Given the description of an element on the screen output the (x, y) to click on. 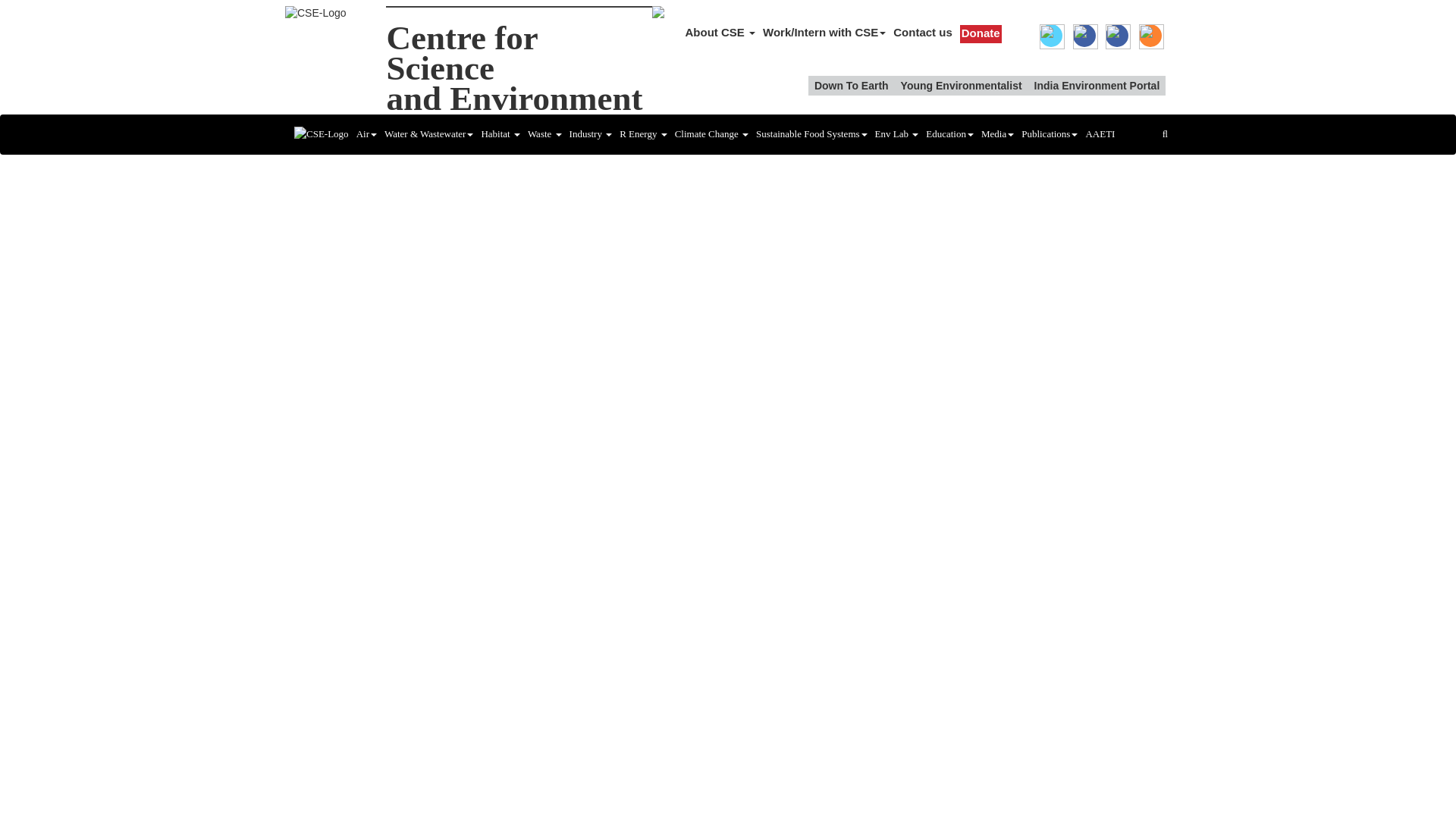
Down To Earth (851, 85)
Donate (981, 33)
Air (366, 133)
Contact us (922, 32)
Twitter (1050, 35)
About CSE (720, 32)
Young Environmentalist (513, 67)
Facebook (961, 85)
India Environment Portal (1116, 35)
Instagram (1096, 85)
Linkedin (1149, 35)
